Given the description of an element on the screen output the (x, y) to click on. 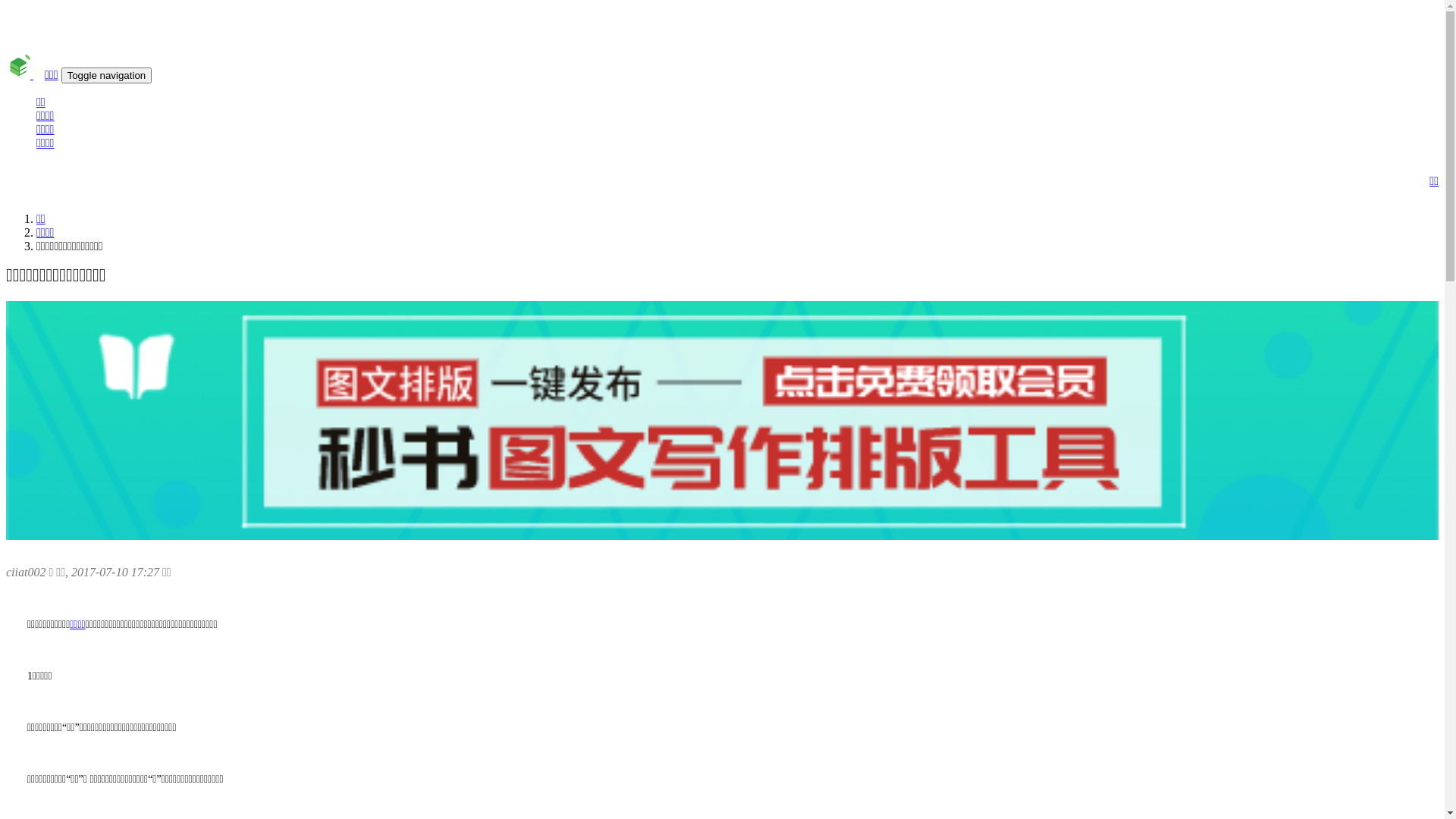
Toggle navigation Element type: text (106, 75)
